Given the description of an element on the screen output the (x, y) to click on. 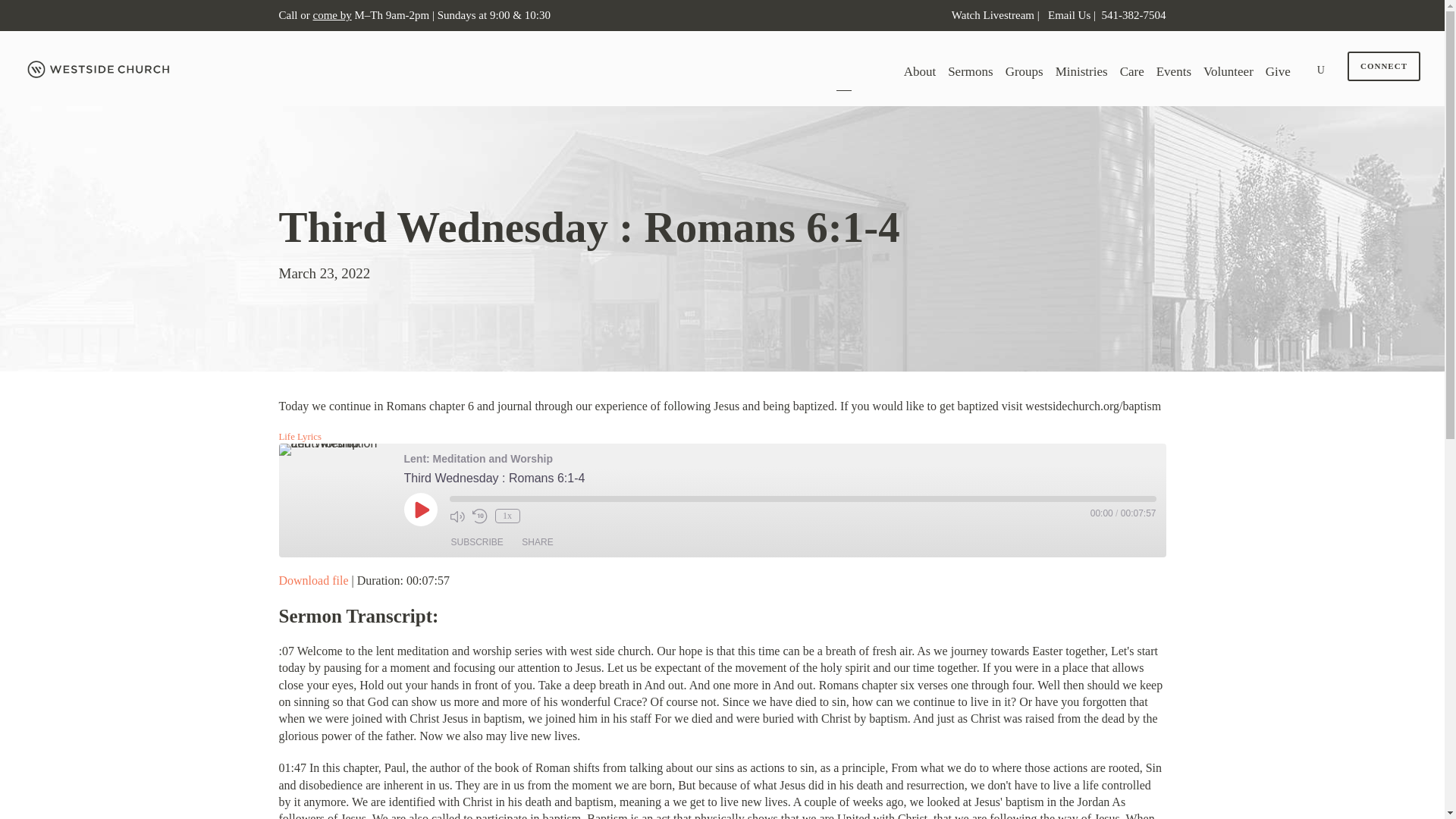
Playback Speed (507, 515)
come by (331, 15)
Rewind 10 seconds (478, 516)
Subscribe (476, 541)
Share (536, 541)
Sundays (454, 15)
logo-westside-church-2020 (100, 69)
Fast Forward 30 seconds (535, 516)
Play (419, 509)
Lent: Meditation and Worship (336, 449)
